Given the description of an element on the screen output the (x, y) to click on. 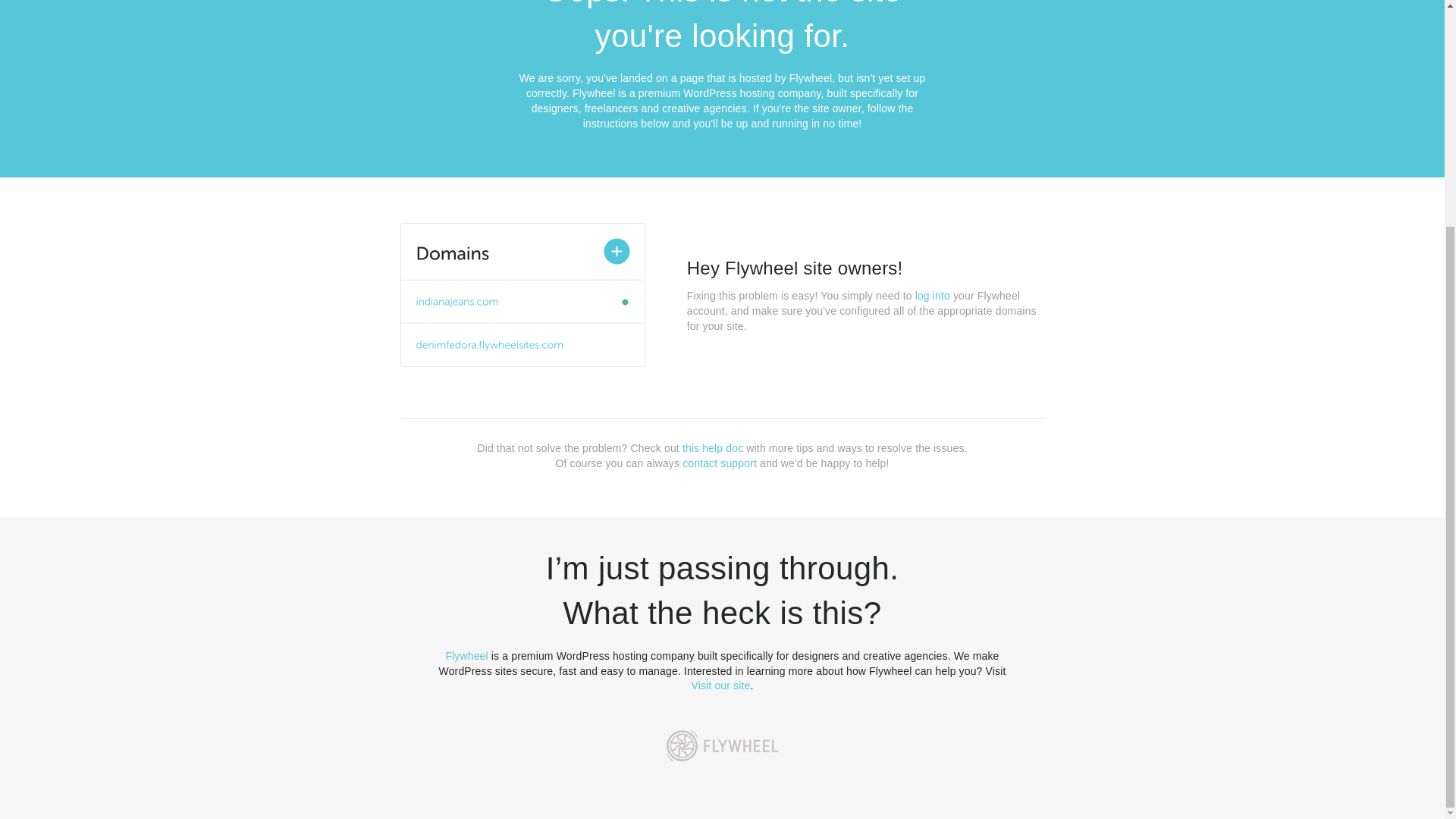
Visit our site (721, 685)
contact support (719, 463)
this help doc (712, 448)
Flywheel (466, 655)
log into (932, 295)
